Given the description of an element on the screen output the (x, y) to click on. 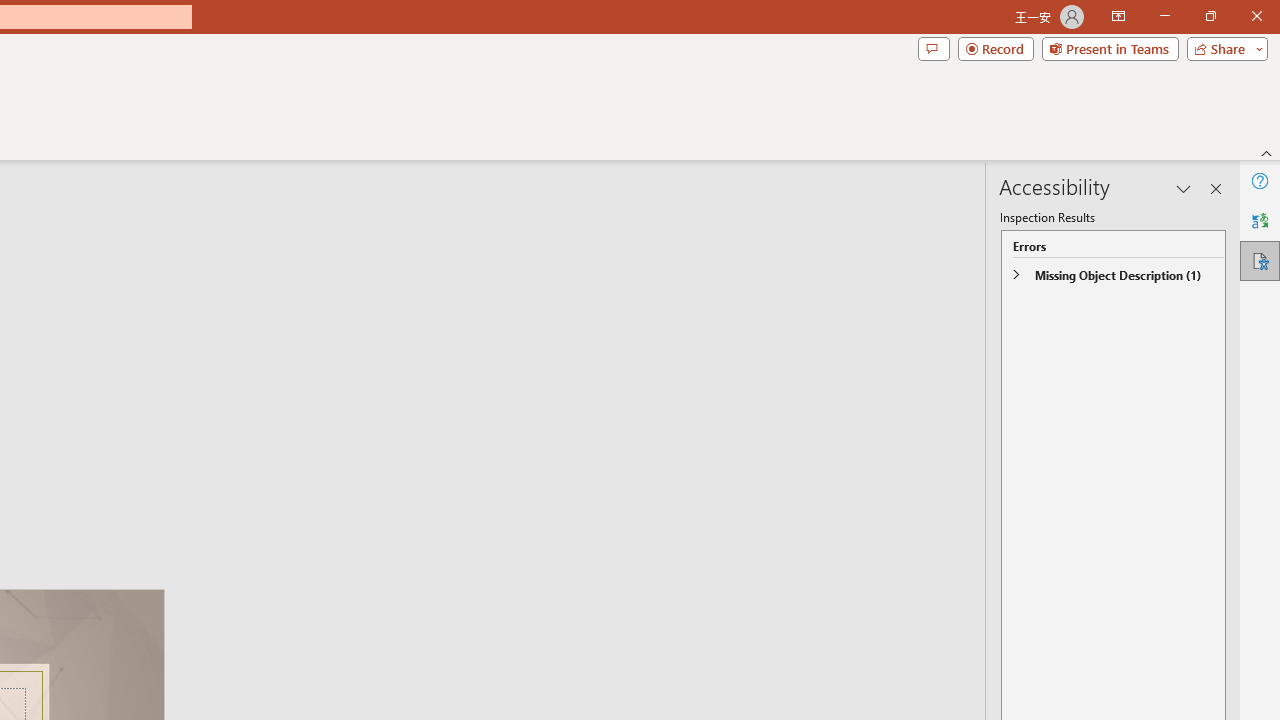
Translator (1260, 220)
